Given the description of an element on the screen output the (x, y) to click on. 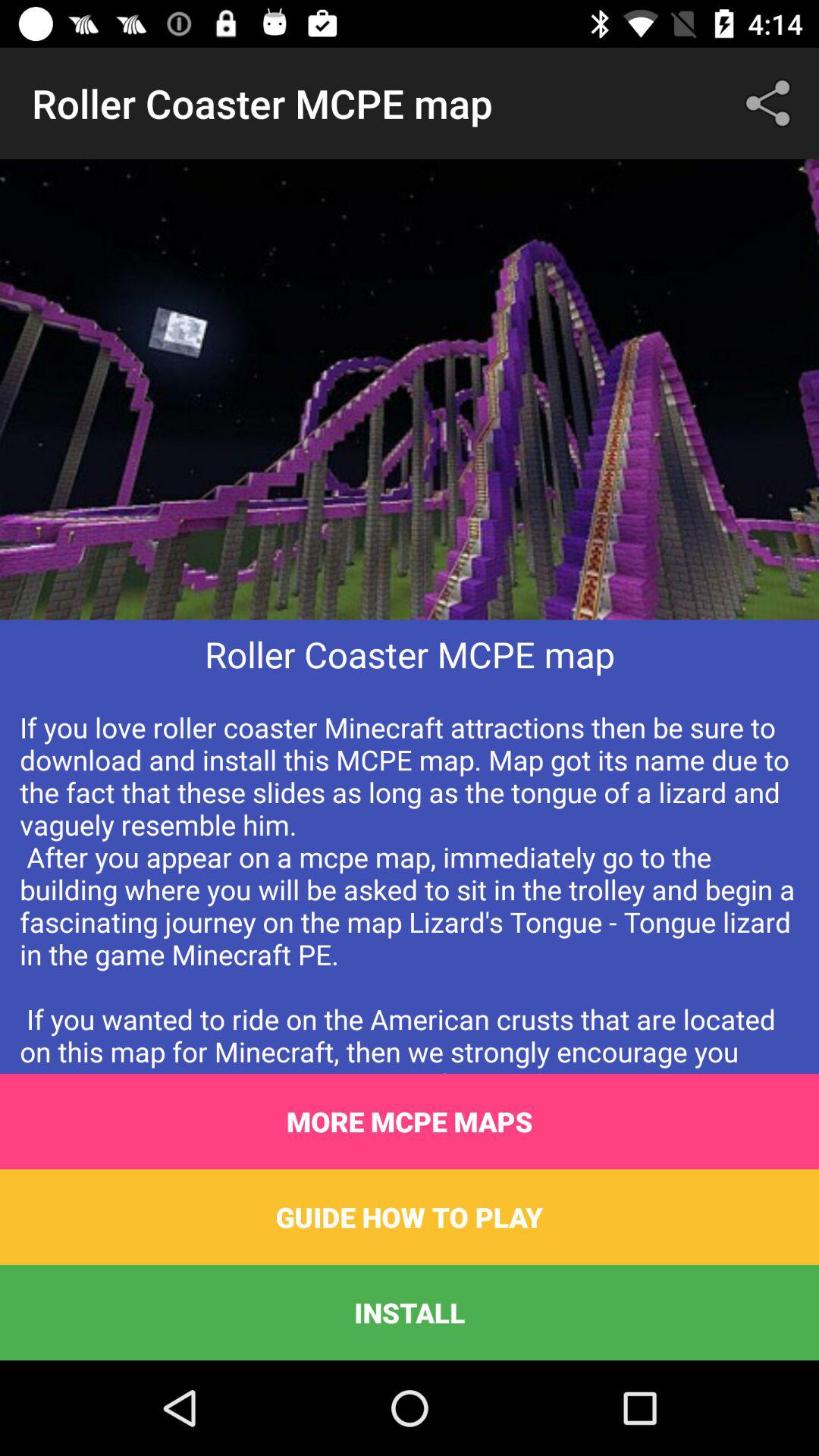
select the icon above the install item (409, 1216)
